Given the description of an element on the screen output the (x, y) to click on. 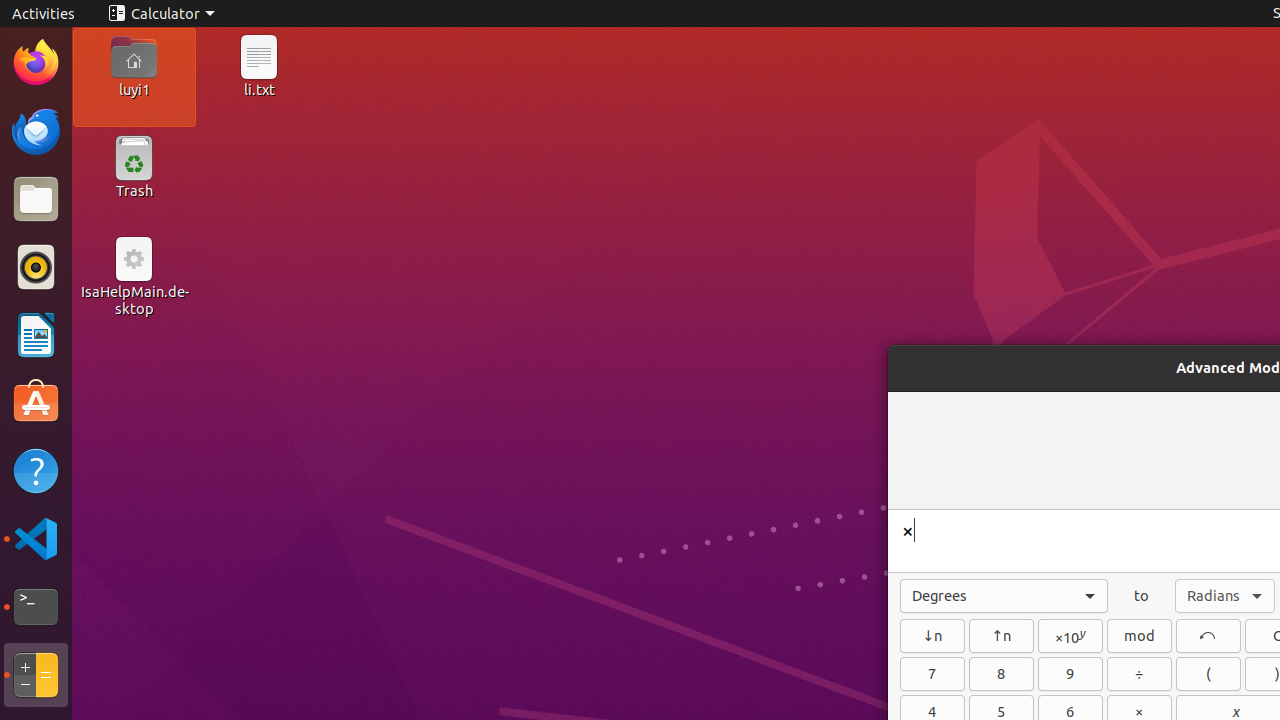
Firefox Web Browser Element type: push-button (36, 63)
 to  Element type: push-button (1141, 596)
( Element type: push-button (1208, 674)
8 Element type: push-button (1001, 674)
